Given the description of an element on the screen output the (x, y) to click on. 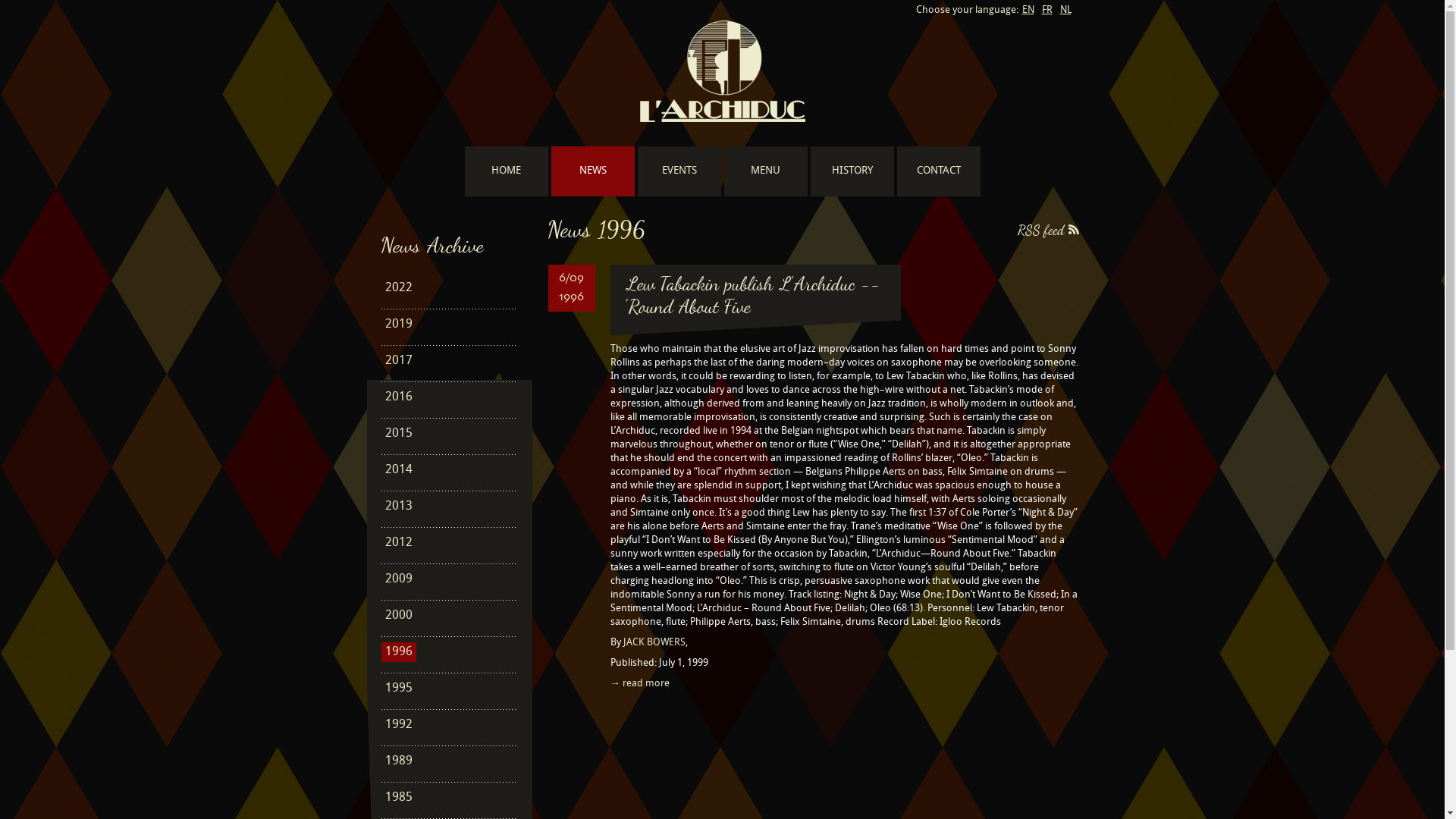
2000 Element type: text (397, 615)
1992 Element type: text (397, 724)
L'Archiduc Element type: text (722, 71)
2019 Element type: text (397, 324)
RSS feed Element type: text (1048, 229)
1985 Element type: text (397, 797)
Lew Tabackin publish L'Archiduc -- 'Round About Five Element type: text (751, 294)
HOME Element type: text (505, 171)
EN Element type: text (1028, 10)
2009 Element type: text (397, 579)
CONTACT Element type: text (937, 171)
2015 Element type: text (397, 433)
2014 Element type: text (397, 470)
MENU Element type: text (764, 171)
1995 Element type: text (397, 688)
2012 Element type: text (397, 542)
2013 Element type: text (397, 506)
1989 Element type: text (397, 761)
EVENTS Element type: text (678, 171)
HISTORY Element type: text (851, 171)
JACK BOWERS Element type: text (654, 642)
1996 Element type: text (397, 652)
2016 Element type: text (397, 397)
2022 Element type: text (397, 288)
NL Element type: text (1065, 10)
FR Element type: text (1046, 10)
2017 Element type: text (397, 360)
NEWS Element type: text (591, 171)
